Given the description of an element on the screen output the (x, y) to click on. 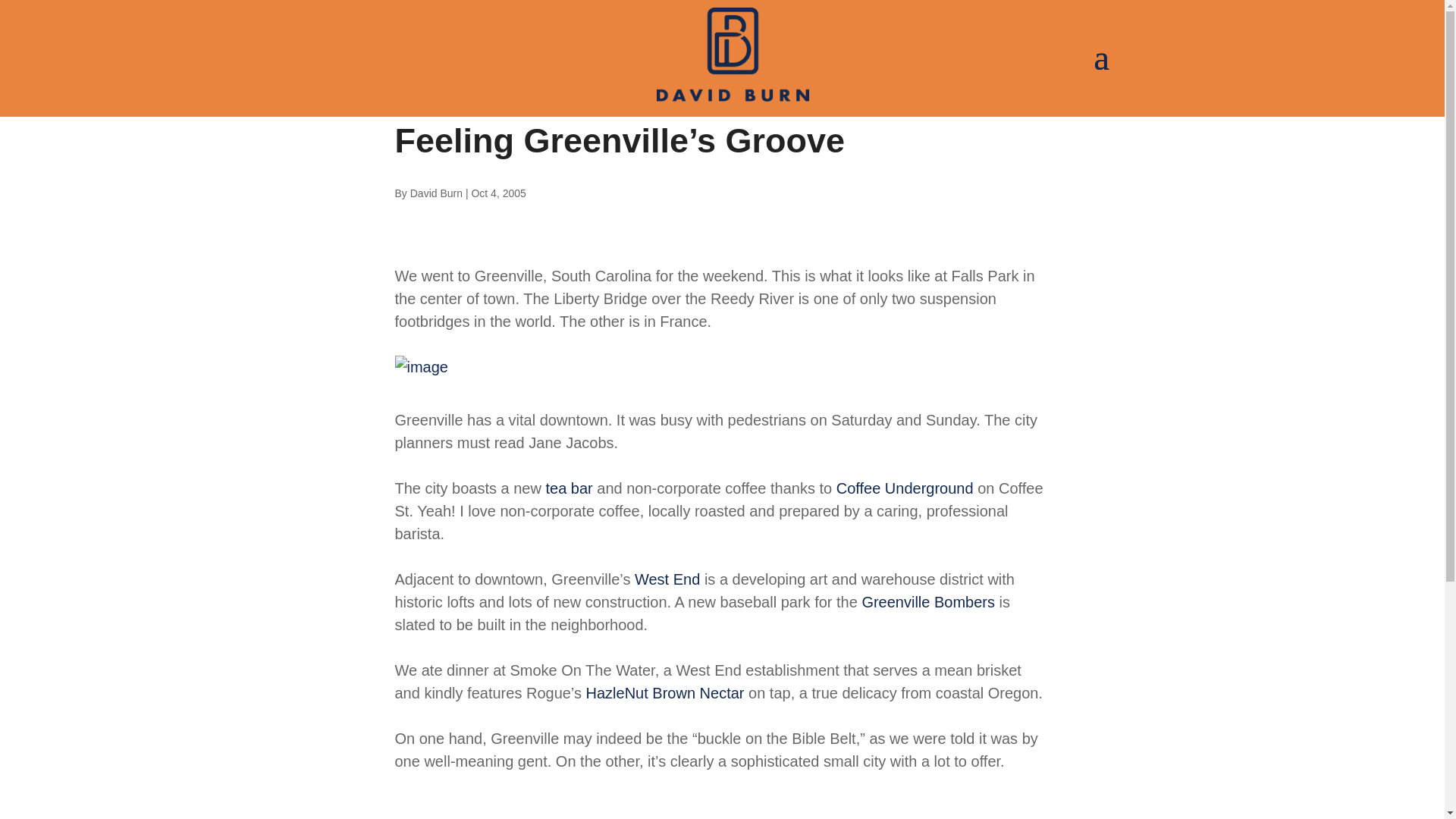
David Burn (436, 192)
West End (667, 579)
HazleNut Brown Nectar (665, 692)
Posts by David Burn (436, 192)
Greenville Bombers (927, 601)
Coffee Underground (904, 487)
tea bar (568, 487)
